Given the description of an element on the screen output the (x, y) to click on. 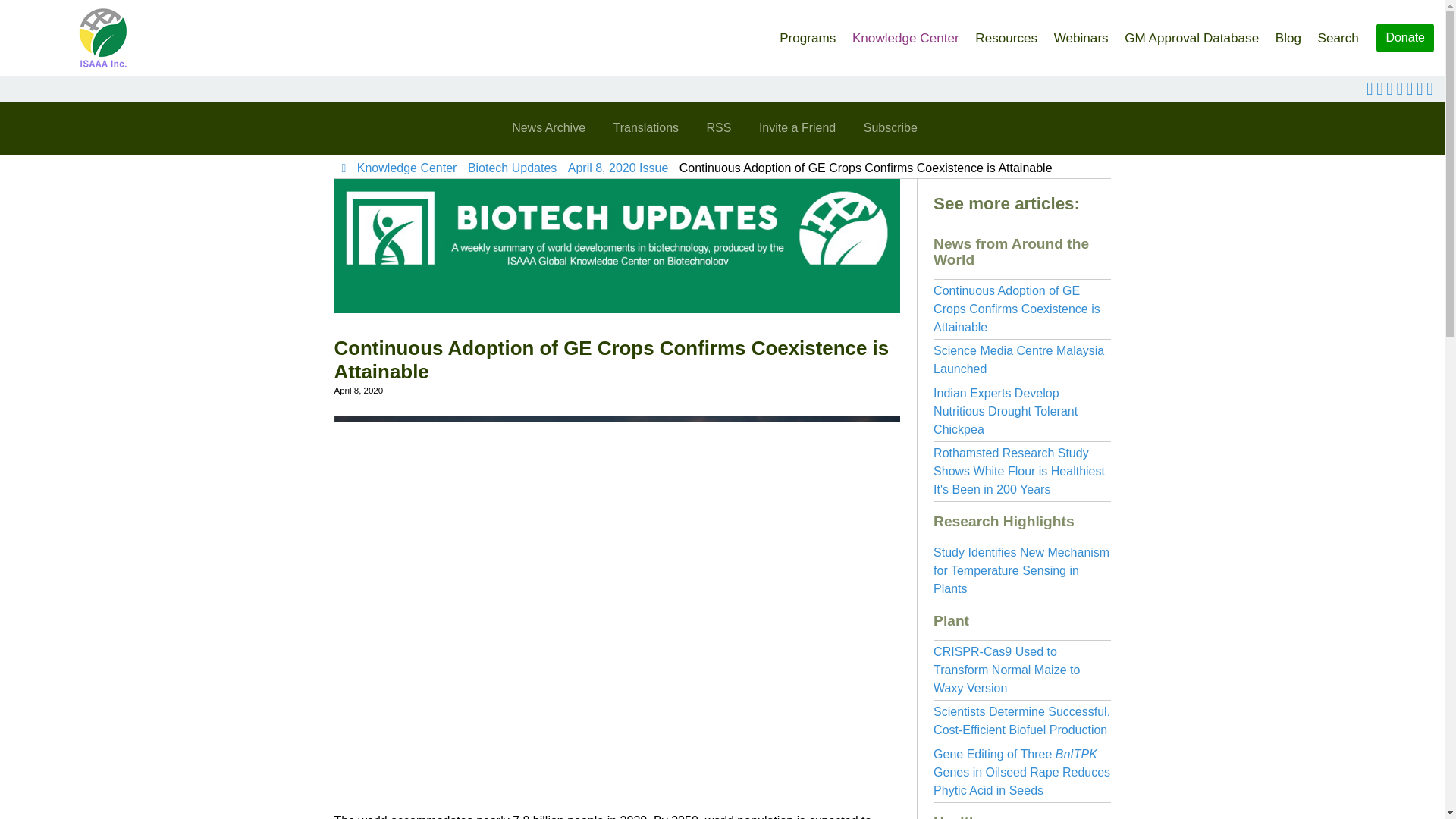
RSS (719, 127)
Search (1337, 32)
Donate (1404, 37)
Webinars (1081, 32)
Biotech Updates (511, 167)
Invite a Friend (796, 127)
Knowledge Center (905, 32)
News Archive (547, 127)
Subscribe (890, 127)
Knowledge Center (406, 167)
April 8, 2020 Issue (617, 167)
GM Approval Database (1191, 32)
Resources (1005, 32)
Blog (1288, 32)
Translations (644, 127)
